Given the description of an element on the screen output the (x, y) to click on. 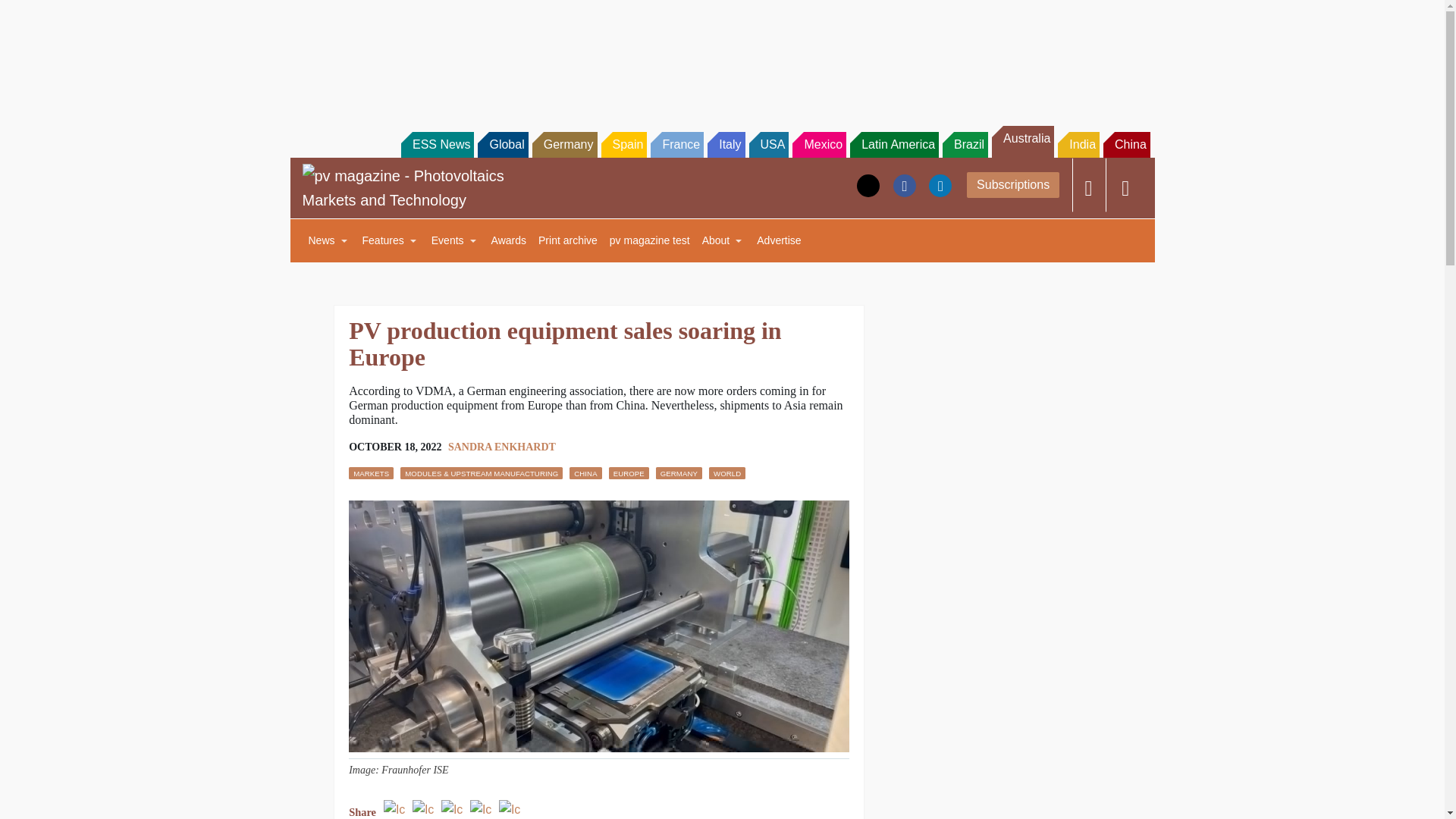
Germany (564, 144)
France (676, 144)
pv magazine - Photovoltaics Markets and Technology (415, 188)
Australia (1022, 142)
Global (502, 144)
USA (769, 144)
Posts by Sandra Enkhardt (502, 446)
pv magazine - Photovoltaics Markets and Technology (415, 187)
Spain (622, 144)
Tuesday, October 18, 2022, 9:34 am (395, 446)
